Given the description of an element on the screen output the (x, y) to click on. 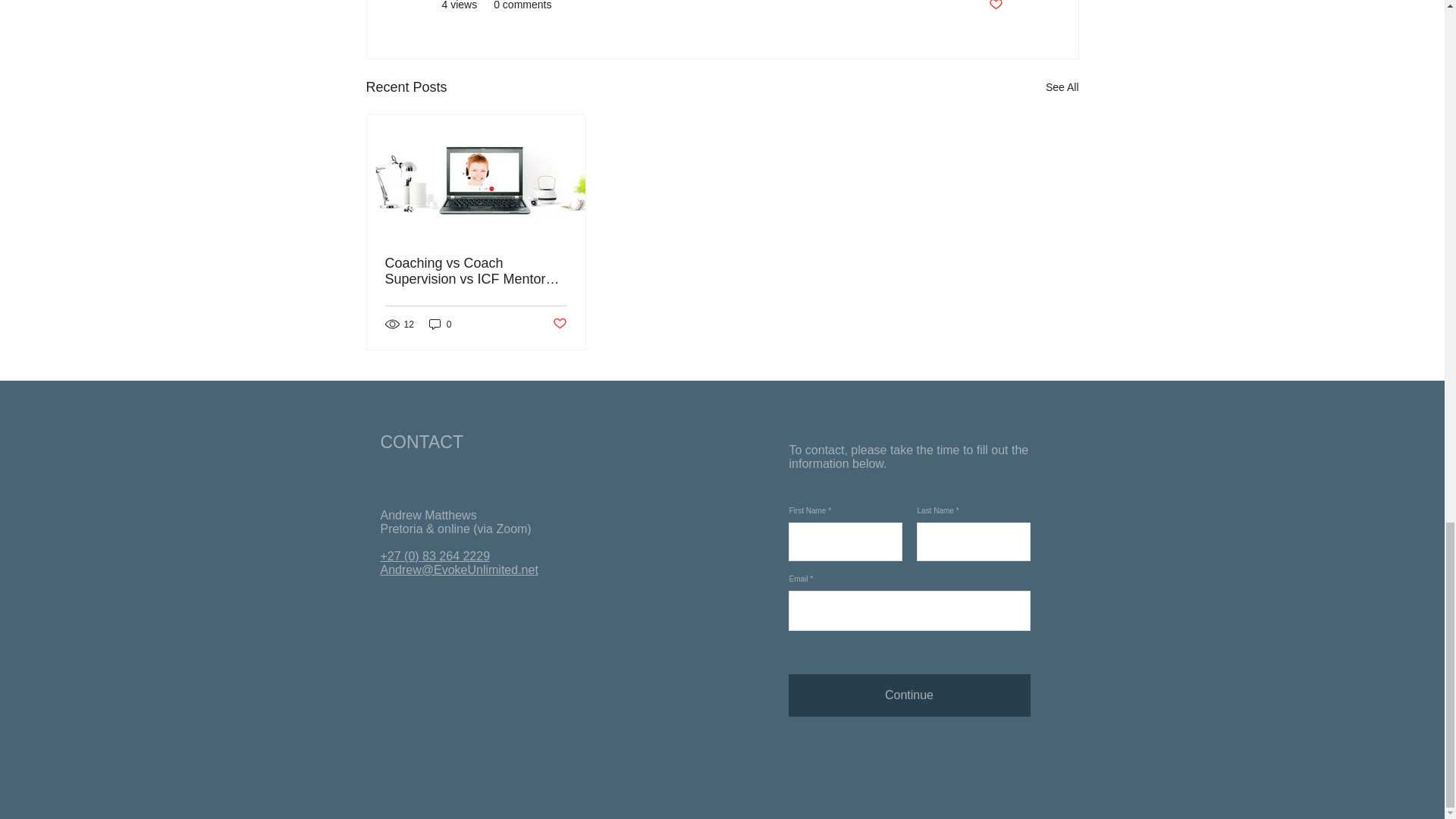
0 (440, 323)
Coaching vs Coach Supervision vs ICF Mentor Coaching (476, 271)
Post not marked as liked (558, 324)
Post not marked as liked (995, 6)
See All (1061, 87)
Continue (909, 695)
